Given the description of an element on the screen output the (x, y) to click on. 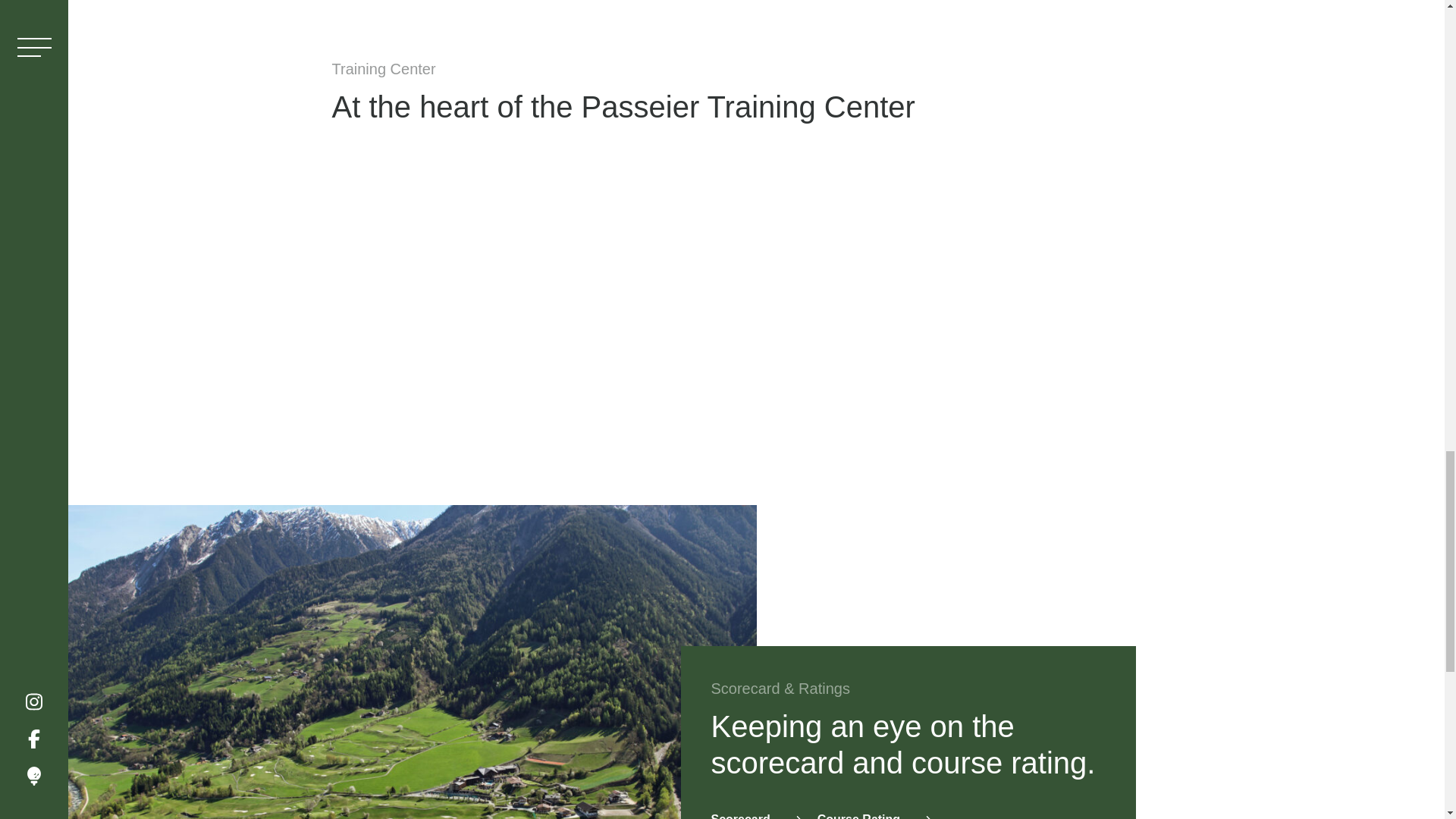
Course Rating (873, 815)
Scorecard (756, 815)
